Given the description of an element on the screen output the (x, y) to click on. 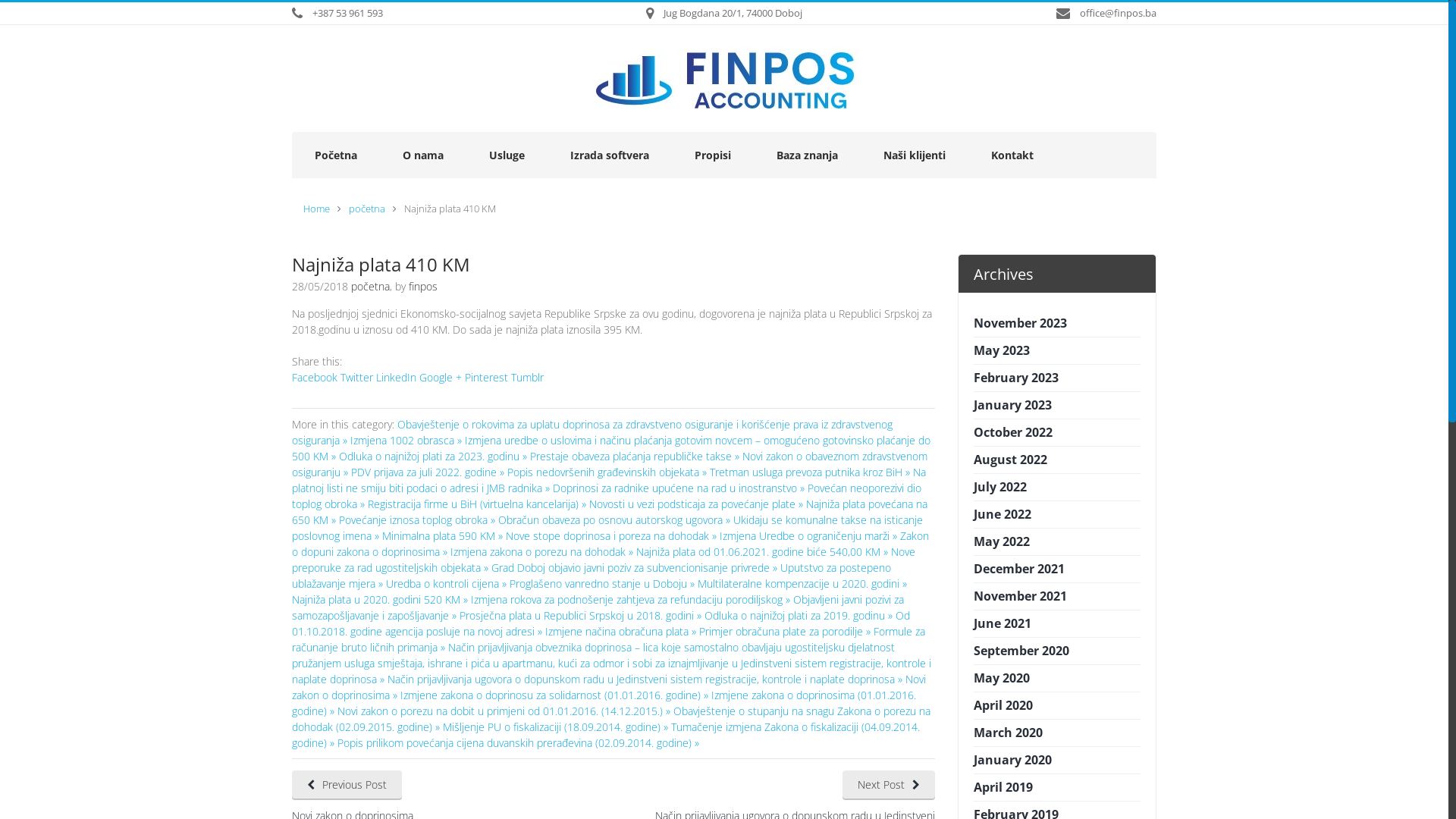
January 2023 Element type: text (1012, 404)
June 2022 Element type: text (1002, 513)
LinkedIn Element type: text (396, 377)
March 2020 Element type: text (1007, 732)
Facebook Element type: text (314, 377)
April 2020 Element type: text (1002, 704)
April 2019 Element type: text (1002, 786)
Tumblr Element type: text (527, 377)
O nama Element type: text (422, 154)
September 2020 Element type: text (1021, 650)
Home Element type: text (316, 208)
February 2023 Element type: text (1015, 377)
May 2023 Element type: text (1001, 350)
Google + Element type: text (440, 377)
Usluge Element type: text (506, 154)
November 2023 Element type: text (1019, 322)
June 2021 Element type: text (1002, 623)
Izrada softvera Element type: text (609, 154)
October 2022 Element type: text (1012, 431)
Twitter Element type: text (356, 377)
Next Post Element type: text (887, 785)
November 2021 Element type: text (1019, 595)
Pinterest Element type: text (486, 377)
July 2022 Element type: text (999, 486)
May 2020 Element type: text (1001, 677)
May 2022 Element type: text (1001, 541)
finpos Element type: text (422, 286)
August 2022 Element type: text (1010, 459)
Kontakt Element type: text (1012, 154)
December 2021 Element type: text (1018, 568)
Baza znanja Element type: text (806, 154)
Previous Post Element type: text (346, 785)
January 2020 Element type: text (1012, 759)
Propisi Element type: text (712, 154)
